Given the description of an element on the screen output the (x, y) to click on. 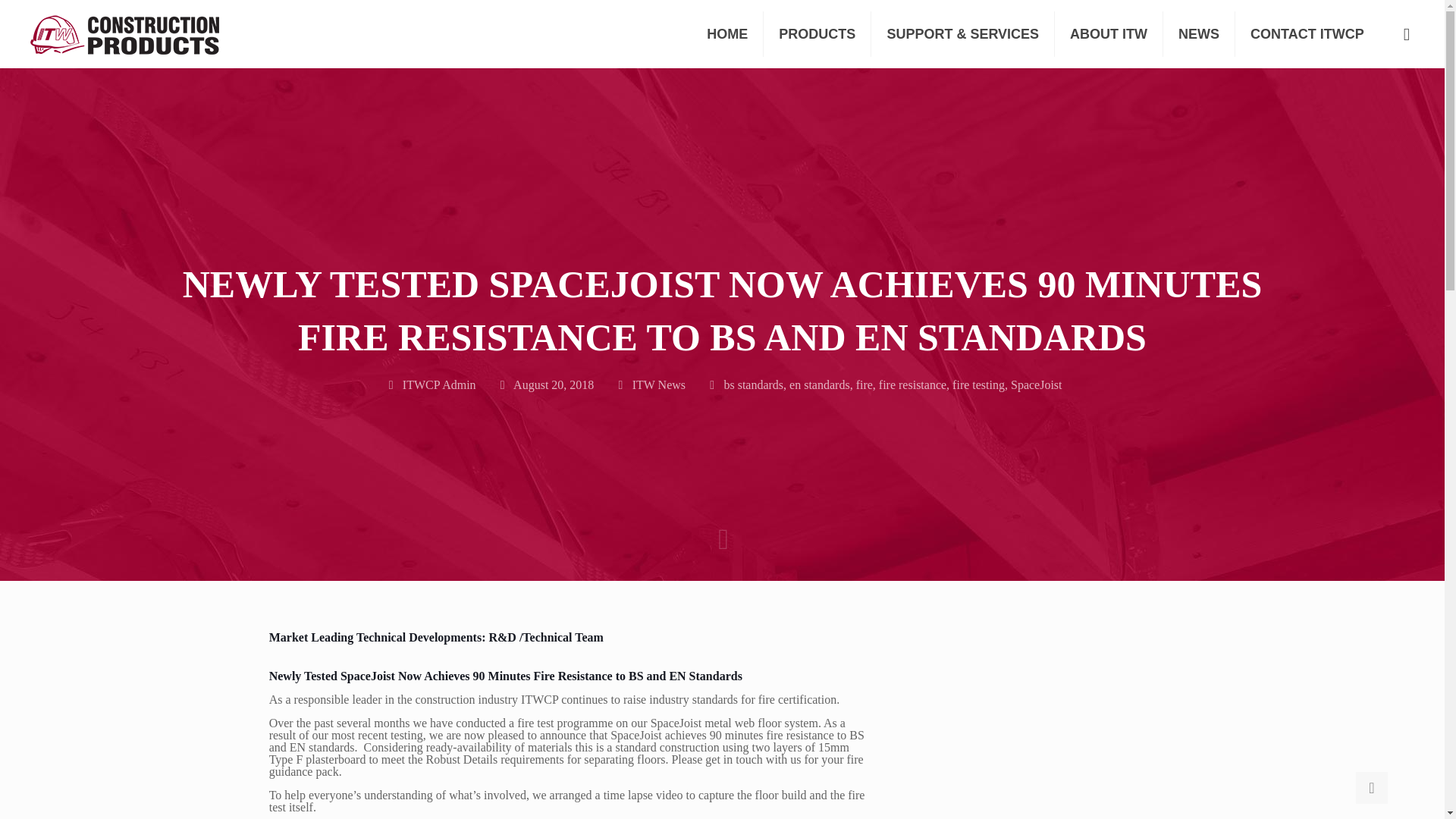
PRODUCTS (816, 33)
fire (864, 384)
ITW Construction Products (124, 33)
fire resistance (912, 384)
bs standards (753, 384)
CONTACT ITWCP (1306, 33)
ITW News (658, 384)
NEWS (1198, 33)
en standards (819, 384)
HOME (726, 33)
ITWCP Admin (439, 384)
SpaceJoist (1036, 384)
fire testing (978, 384)
ABOUT ITW (1108, 33)
